Given the description of an element on the screen output the (x, y) to click on. 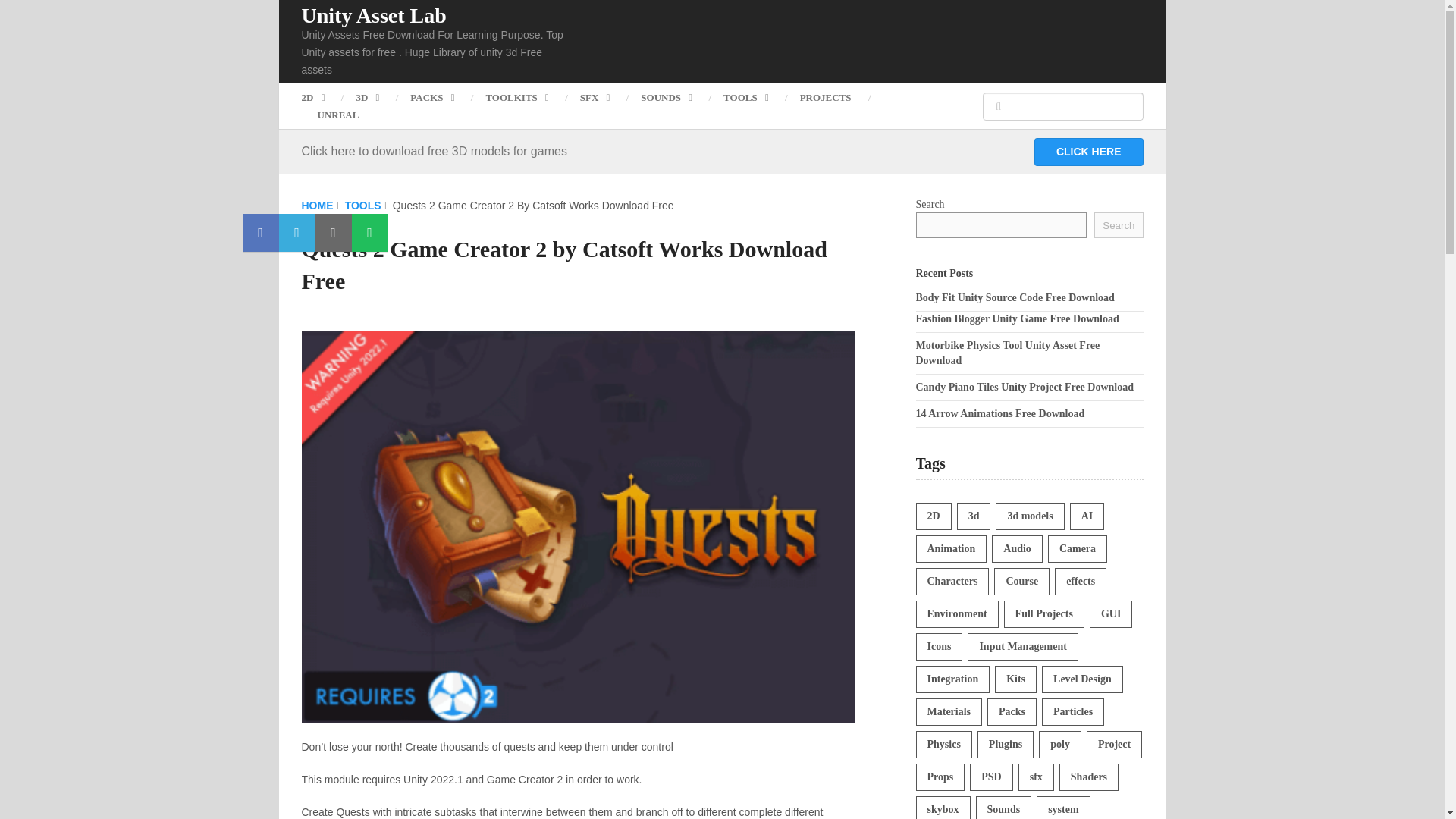
Click Here (1087, 152)
TOOLS (745, 97)
SOUNDS (665, 97)
Unity Asset Lab (373, 14)
2D (320, 97)
3D (366, 97)
PACKS (431, 97)
TOOLKITS (515, 97)
SFX (595, 97)
